Given the description of an element on the screen output the (x, y) to click on. 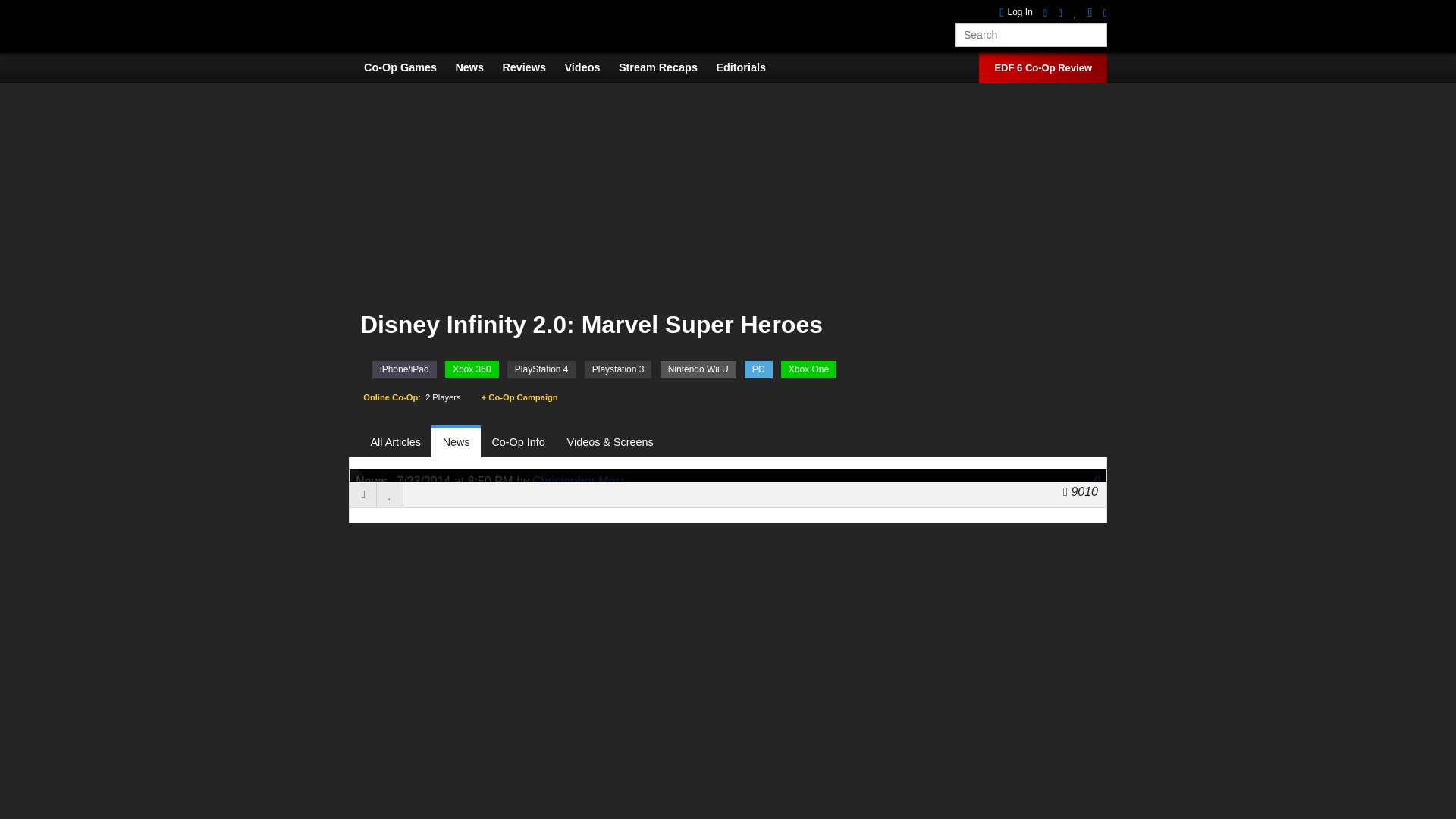
Reviews (531, 67)
PlayStation 4 (541, 369)
Stream Recaps (665, 67)
Videos (589, 67)
 Log In (1015, 11)
News (476, 67)
Weekly Video Streams and VODs from Co-Optimus (665, 67)
Nintendo Wii U (698, 369)
Editorials (748, 67)
Co-Op Games (407, 67)
